Given the description of an element on the screen output the (x, y) to click on. 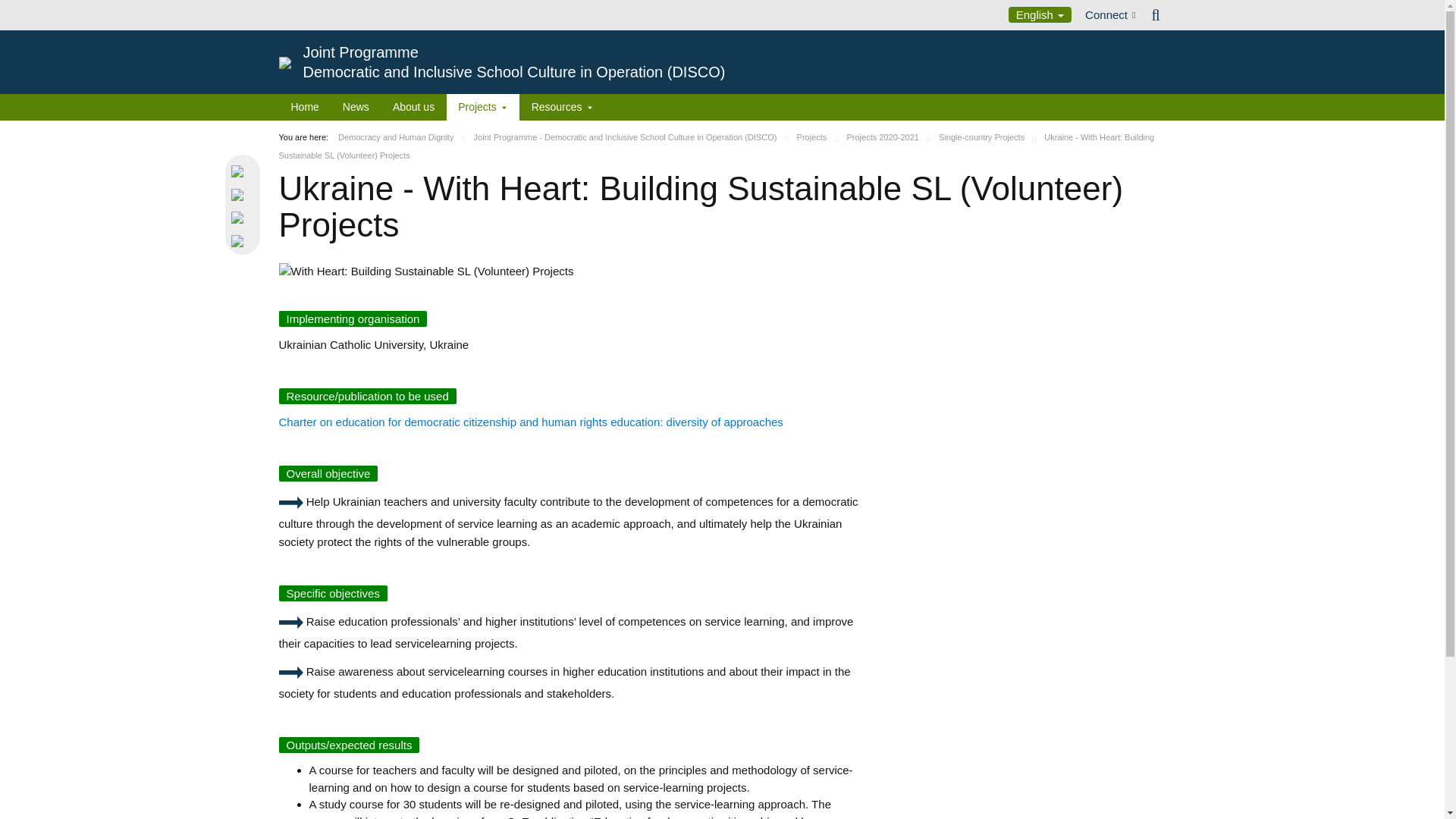
Home (304, 107)
News (355, 107)
Projects (481, 107)
Share on Facebook (244, 193)
About us (412, 107)
Send this page (244, 240)
English (1040, 14)
Connect (1109, 15)
Share on Linkedin (244, 217)
